Given the description of an element on the screen output the (x, y) to click on. 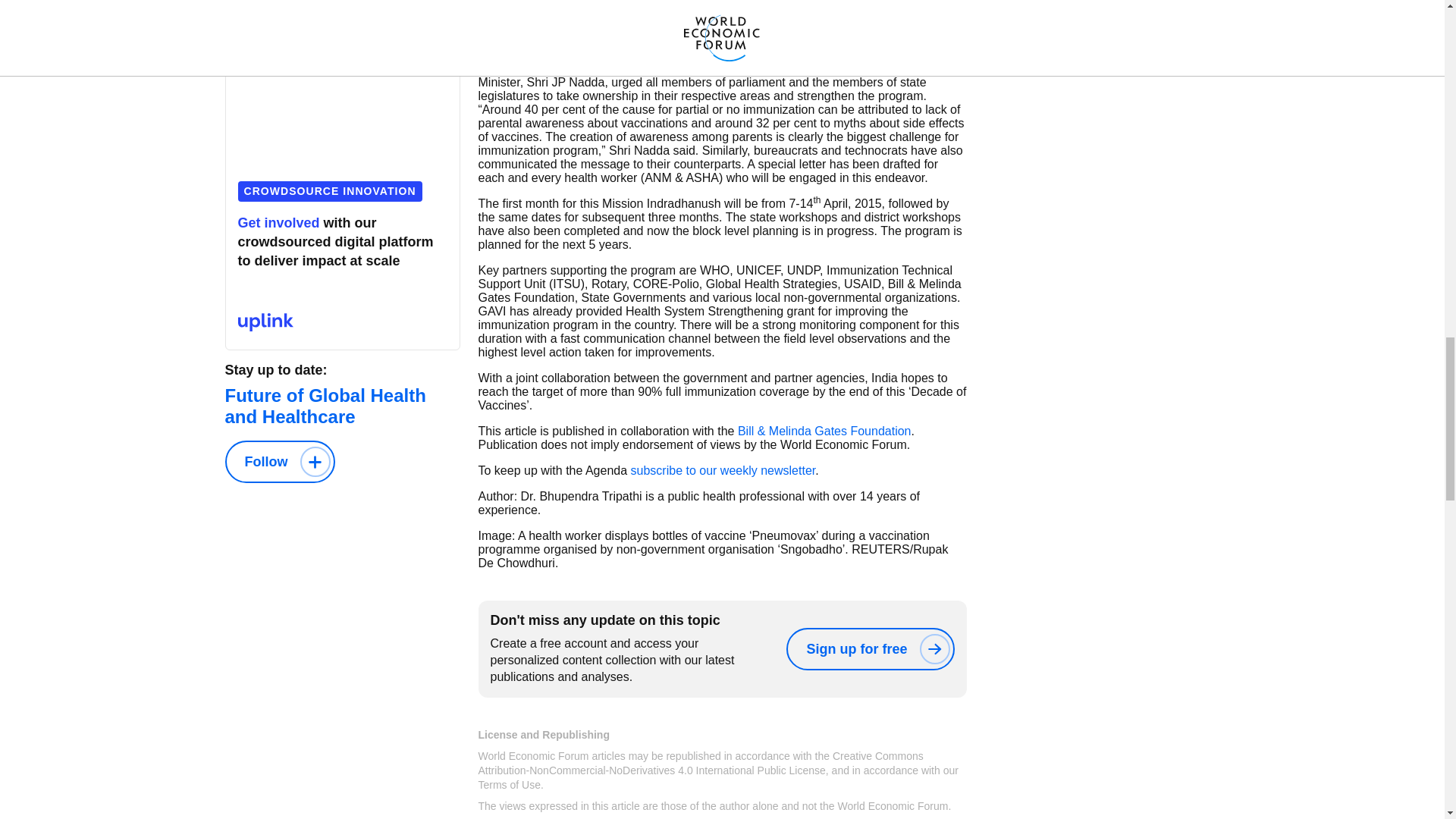
Sign up for free (869, 649)
subscribe to our weekly newsletter (722, 470)
Follow (279, 461)
